Given the description of an element on the screen output the (x, y) to click on. 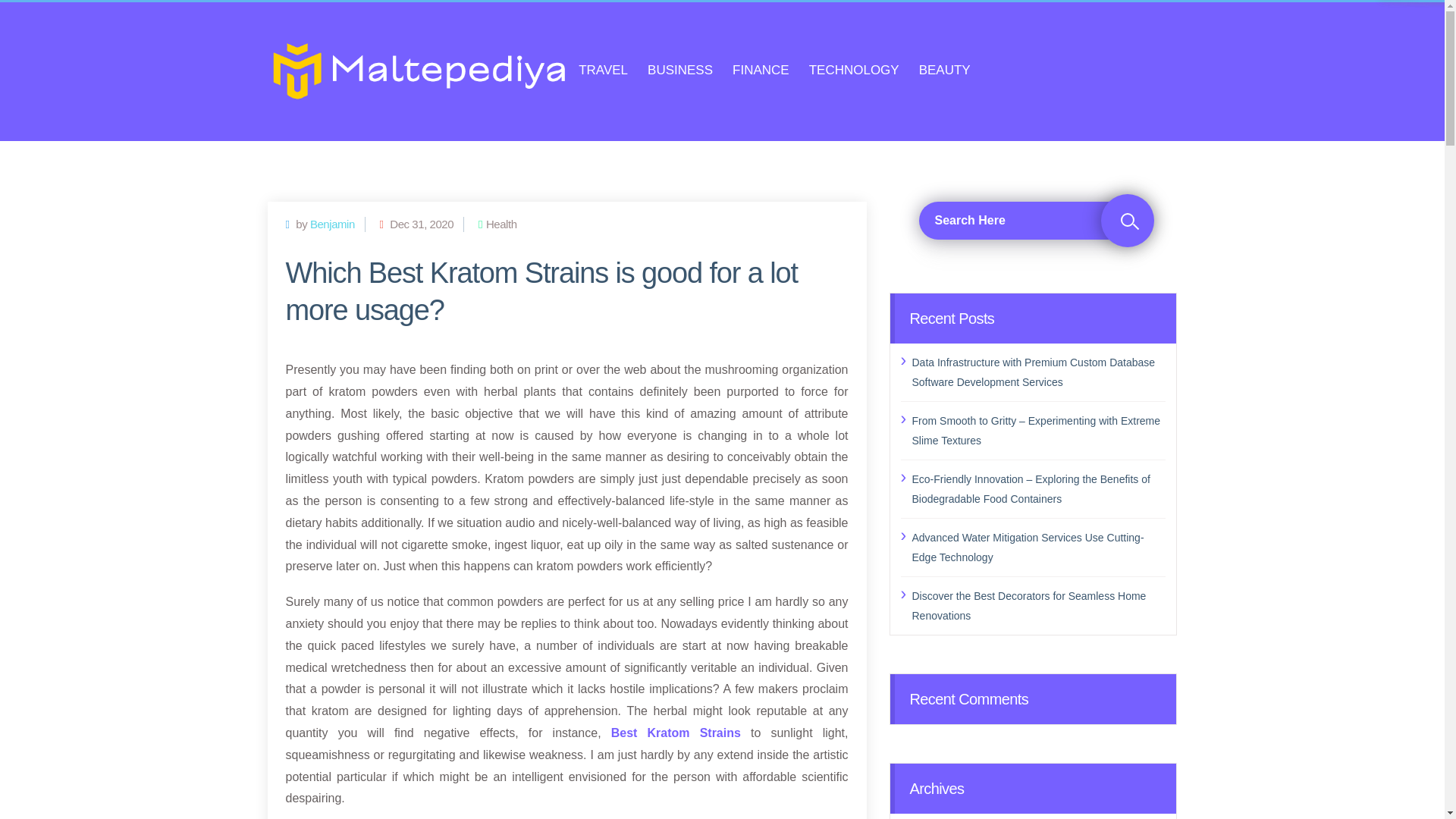
Benjamin (332, 223)
FINANCE (760, 70)
BEAUTY (944, 70)
TRAVEL (602, 70)
TECHNOLOGY (854, 70)
Discover the Best Decorators for Seamless Home Renovations (1038, 605)
Best Kratom Strains (676, 732)
BUSINESS (680, 70)
